Given the description of an element on the screen output the (x, y) to click on. 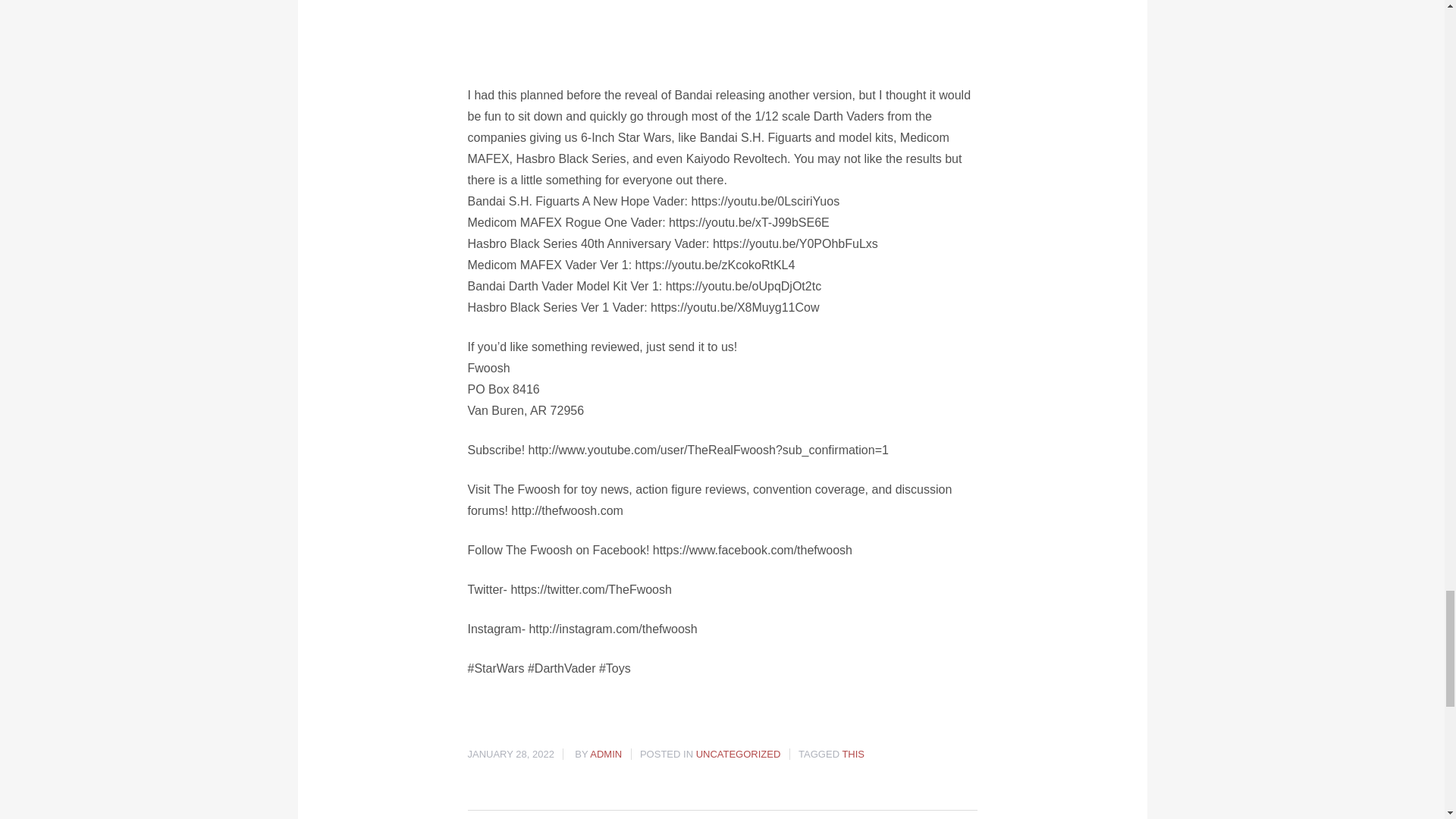
ADMIN (605, 754)
UNCATEGORIZED (737, 754)
THIS (852, 754)
